Given the description of an element on the screen output the (x, y) to click on. 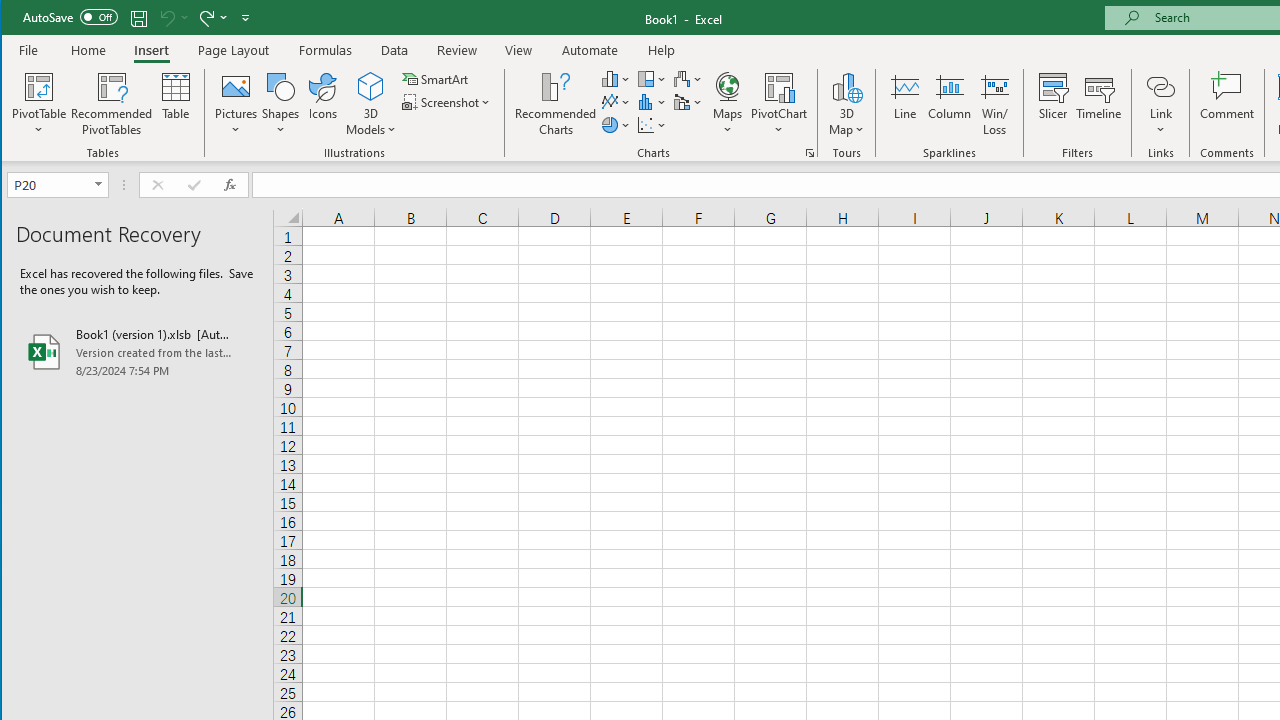
System (19, 18)
Win/Loss (995, 104)
Page Layout (233, 50)
Insert Scatter (X, Y) or Bubble Chart (652, 124)
Recommended Charts (809, 152)
3D Models (371, 104)
More Options (1160, 123)
Name Box (49, 184)
Screenshot (447, 101)
Data (395, 50)
AutoSave (70, 16)
Undo (166, 17)
Formulas (326, 50)
File Tab (29, 49)
Insert Pie or Doughnut Chart (616, 124)
